Given the description of an element on the screen output the (x, y) to click on. 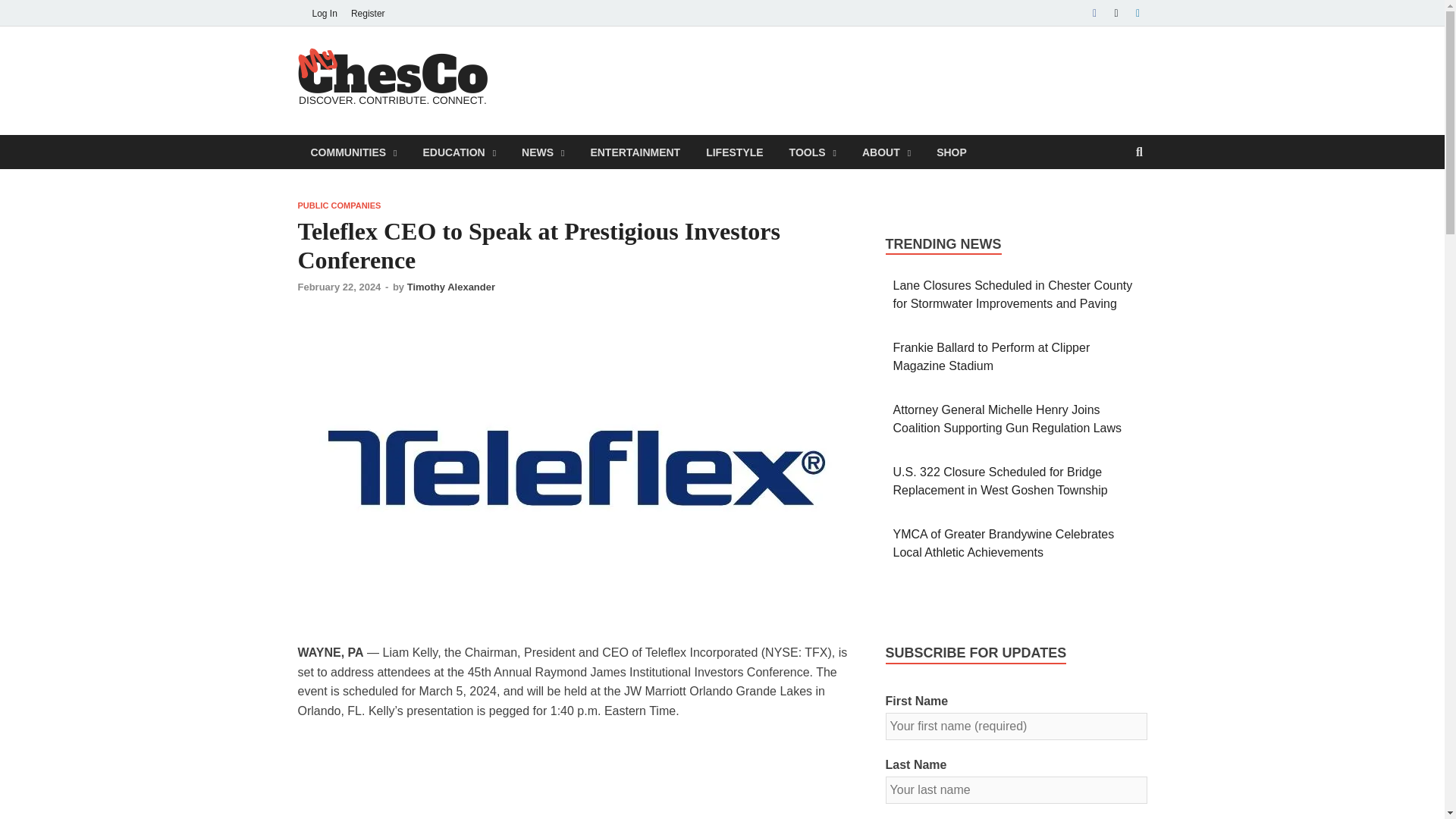
Log In (323, 13)
MyChesCo (569, 77)
Register (367, 13)
Frankie Ballard to Perform at Clipper Magazine Stadium (991, 356)
EDUCATION (458, 151)
COMMUNITIES (353, 151)
MyChesCo Store (951, 151)
